Given the description of an element on the screen output the (x, y) to click on. 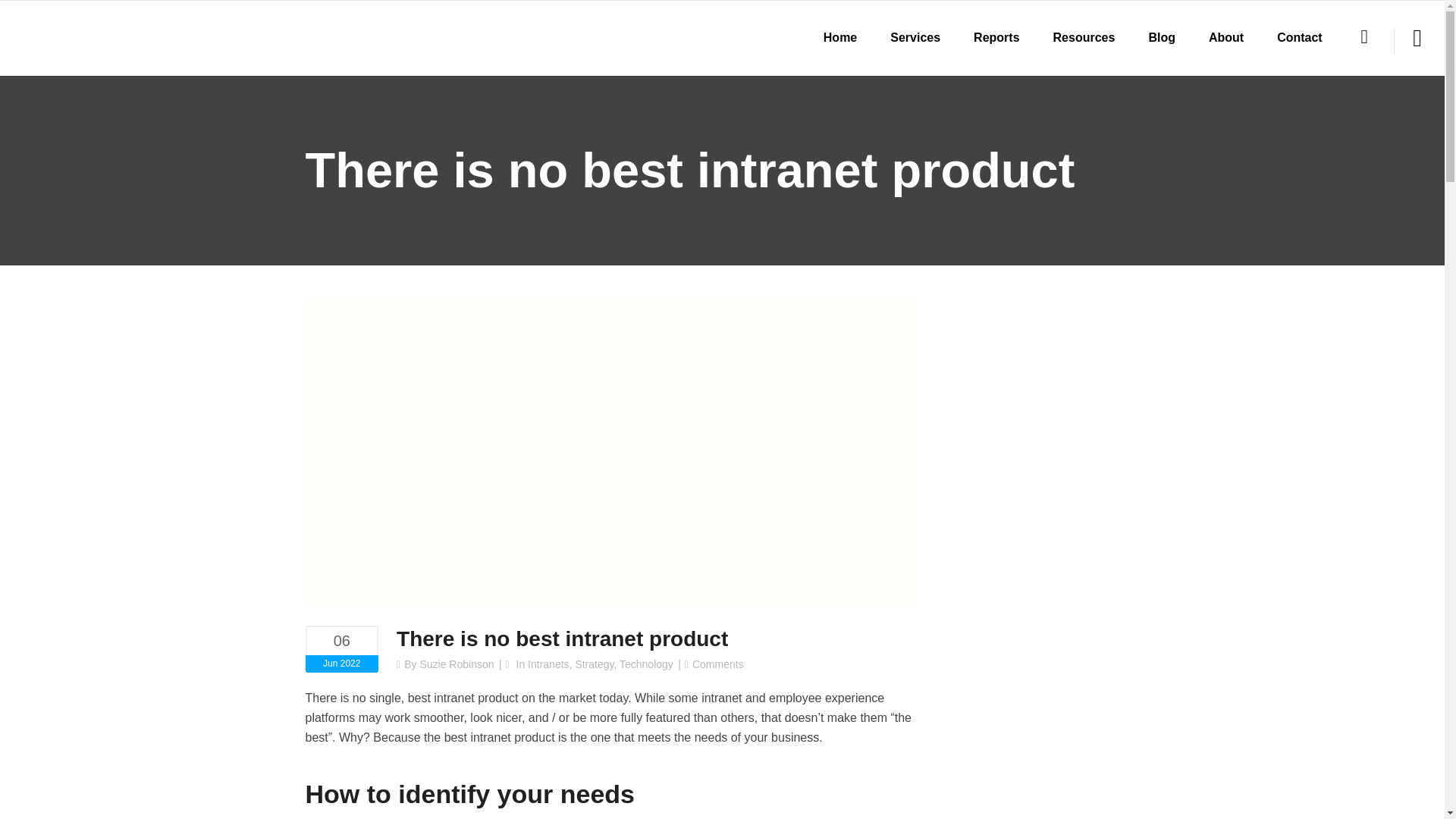
Services (915, 38)
Reports (995, 38)
Resources (1084, 38)
